Given the description of an element on the screen output the (x, y) to click on. 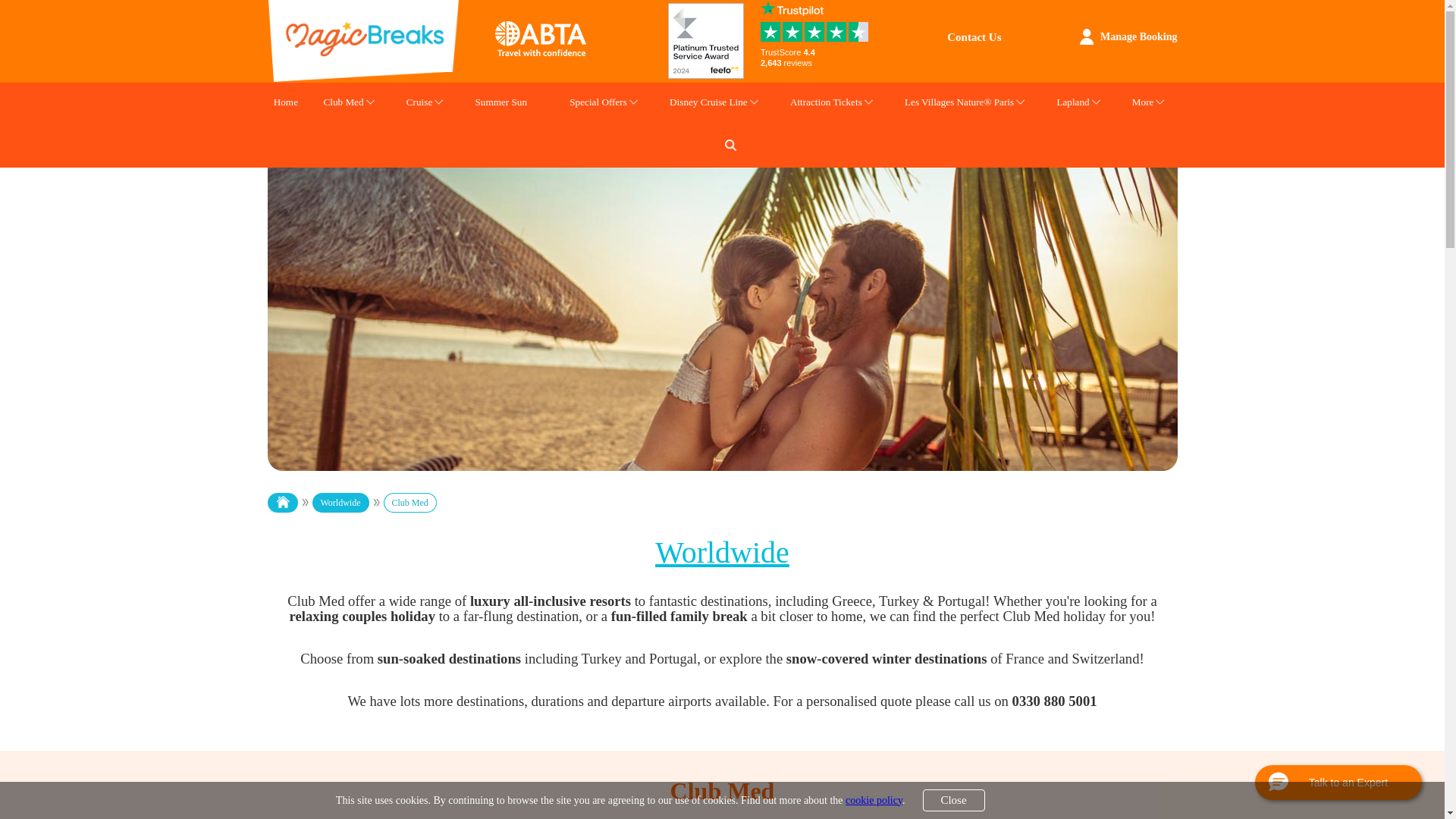
Attraction Tickets (825, 103)
Summer Sun (500, 103)
Disney Cruise Line (707, 103)
Contact Us (974, 37)
Current Page (418, 502)
Club Med (343, 103)
Go to Homepage (290, 502)
Manage Booking (1138, 36)
search (730, 144)
Manage Booking (1086, 36)
Cruise (419, 103)
Home (285, 103)
Special Offers (597, 103)
Customer reviews powered by Trustpilot (818, 56)
